Given the description of an element on the screen output the (x, y) to click on. 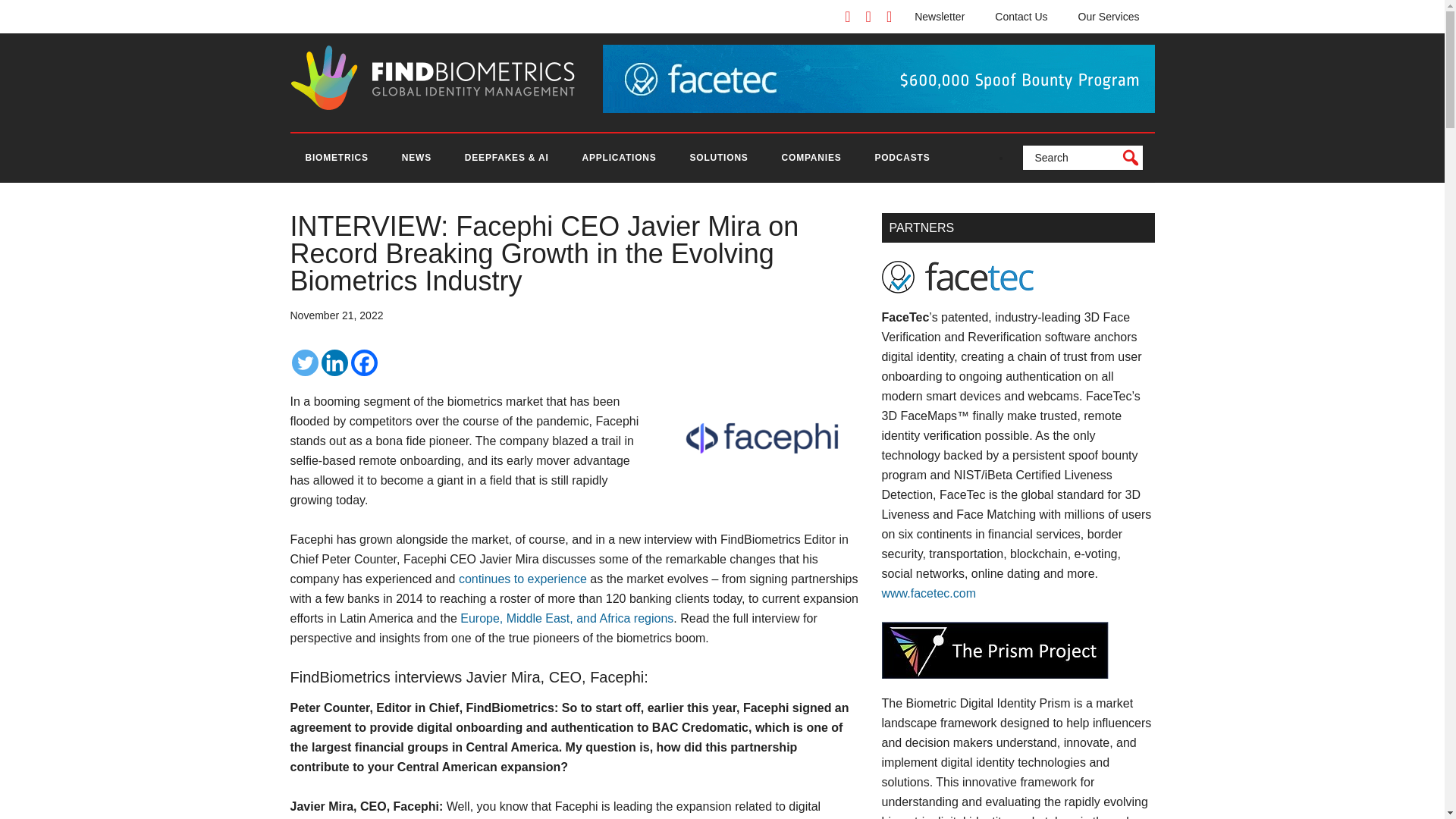
Contact Us (1020, 16)
BIOMETRICS (335, 157)
Our Services (1108, 16)
Linkedin (334, 362)
Facebook (363, 362)
NEWS (416, 157)
Twitter (304, 362)
APPLICATIONS (619, 157)
Newsletter (939, 16)
